Given the description of an element on the screen output the (x, y) to click on. 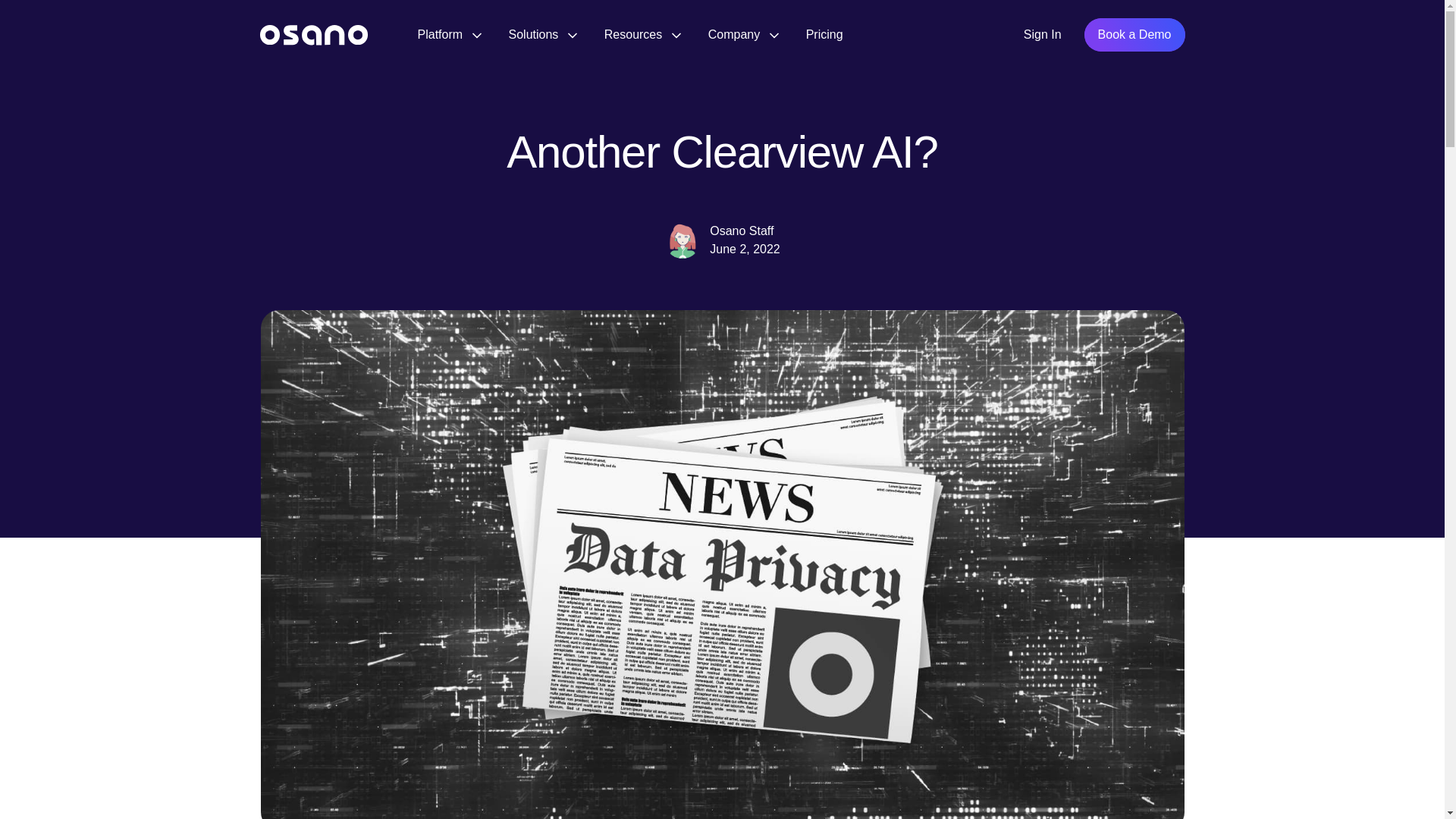
Company (742, 34)
Platform (448, 34)
Resources (642, 34)
Solutions (542, 34)
